Given the description of an element on the screen output the (x, y) to click on. 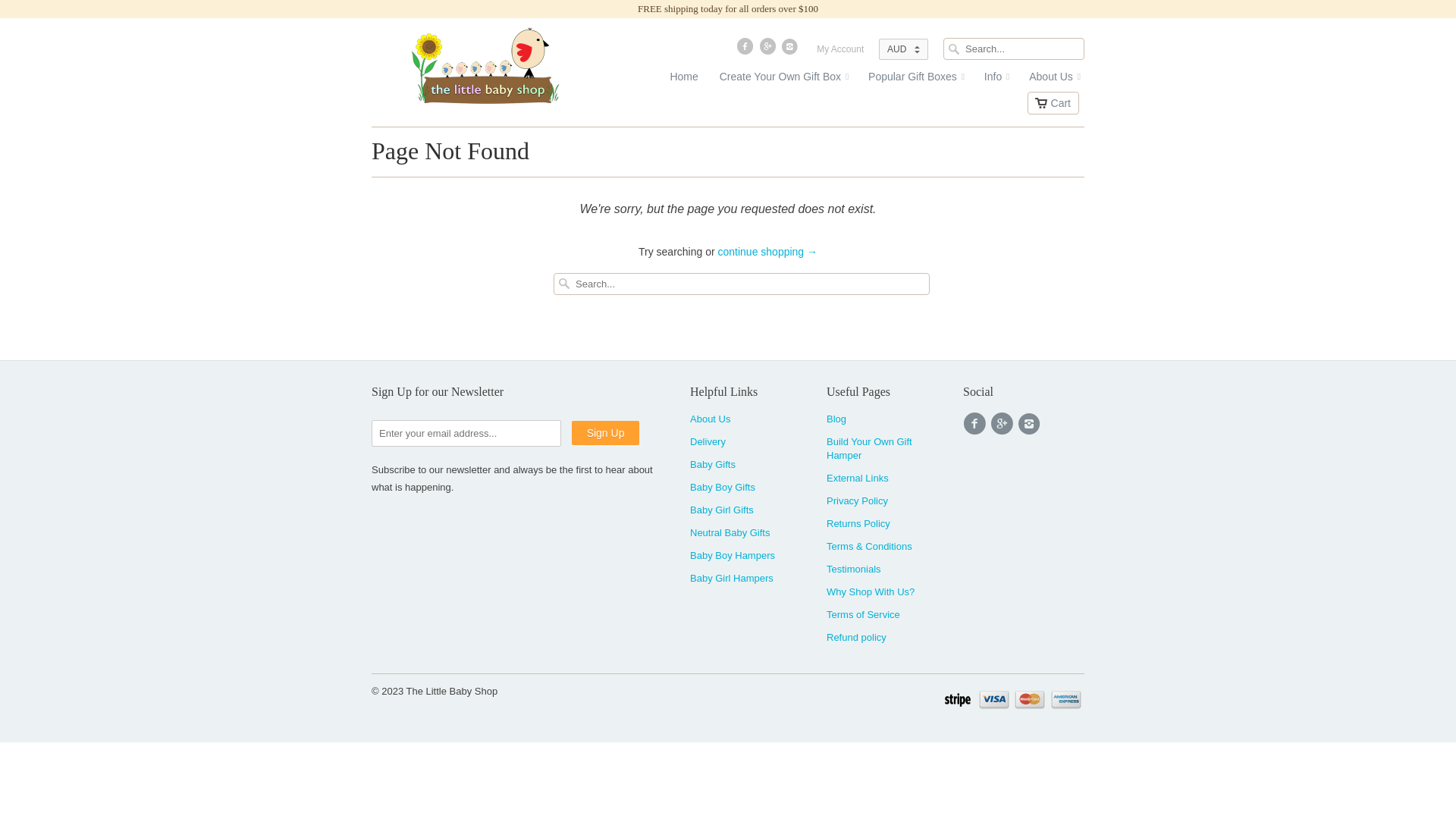
Baby Gifts Element type: text (712, 464)
Delivery Element type: text (707, 441)
Terms of Service Element type: text (863, 614)
Baby Boy Hampers Element type: text (732, 555)
External Links Element type: text (857, 477)
Home Element type: text (679, 80)
About Us Element type: text (710, 418)
Testimonials Element type: text (853, 568)
Baby Girl Gifts Element type: text (721, 509)
The Little Baby Shop on Google+ Element type: hover (768, 49)
The Little Baby Shop on Instagram Element type: hover (1030, 423)
The Little Baby Shop on Facebook Element type: hover (976, 423)
Refund policy Element type: text (856, 637)
The Little Baby Shop on Google+ Element type: hover (1003, 423)
The Little Baby Shop on Instagram Element type: hover (791, 49)
Build Your Own Gift Hamper Element type: text (869, 448)
My Account Element type: text (839, 52)
Neutral Baby Gifts Element type: text (730, 532)
Blog Element type: text (836, 418)
Why Shop With Us? Element type: text (870, 591)
Terms & Conditions Element type: text (869, 546)
The Little Baby Shop Element type: hover (485, 63)
Cart Element type: text (1053, 102)
Baby Boy Gifts Element type: text (722, 486)
Sign Up Element type: text (605, 432)
Returns Policy Element type: text (858, 523)
The Little Baby Shop on Facebook Element type: hover (746, 49)
Baby Girl Hampers Element type: text (731, 577)
Privacy Policy Element type: text (857, 500)
